Given the description of an element on the screen output the (x, y) to click on. 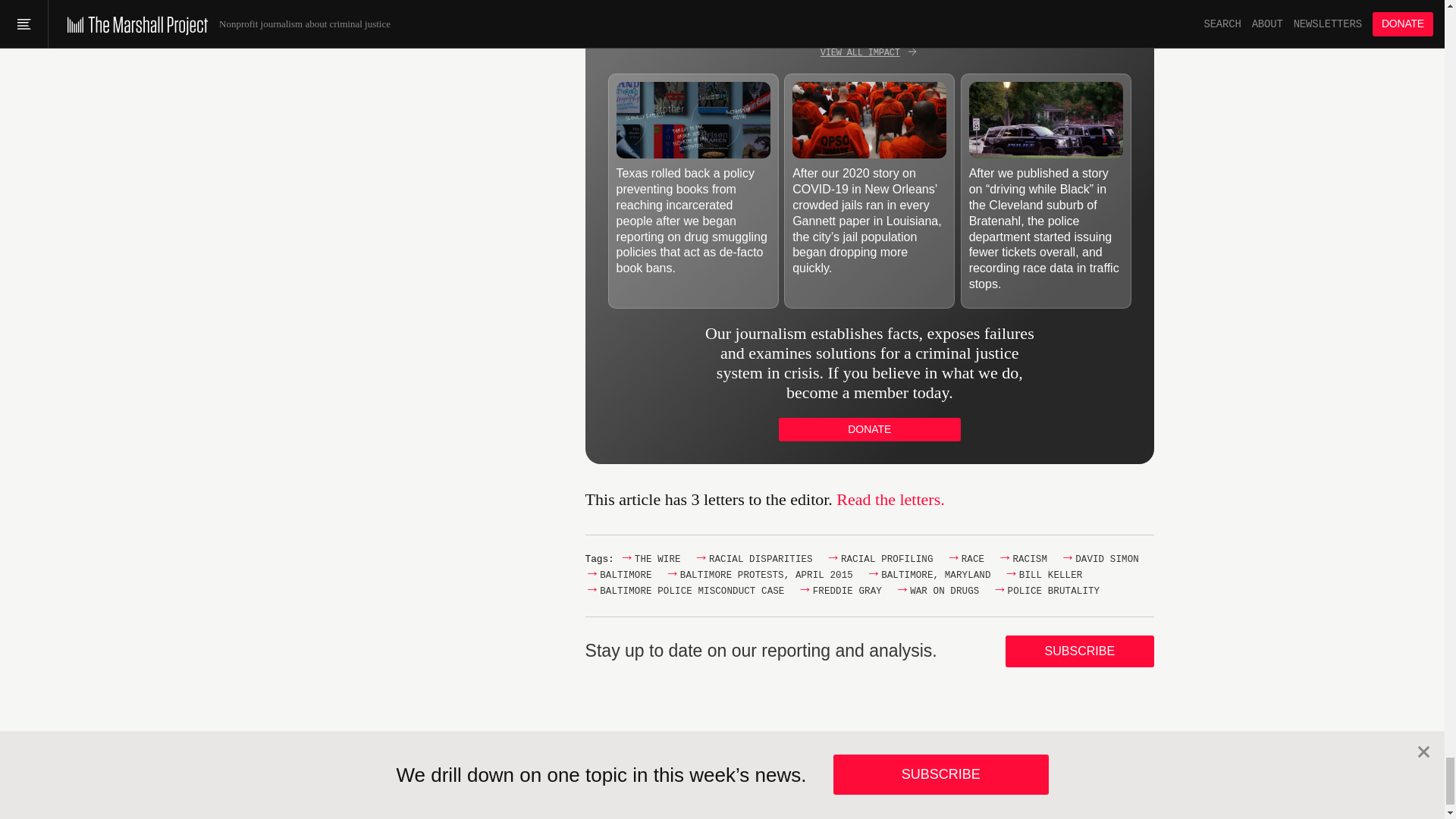
ARROW (911, 51)
